Given the description of an element on the screen output the (x, y) to click on. 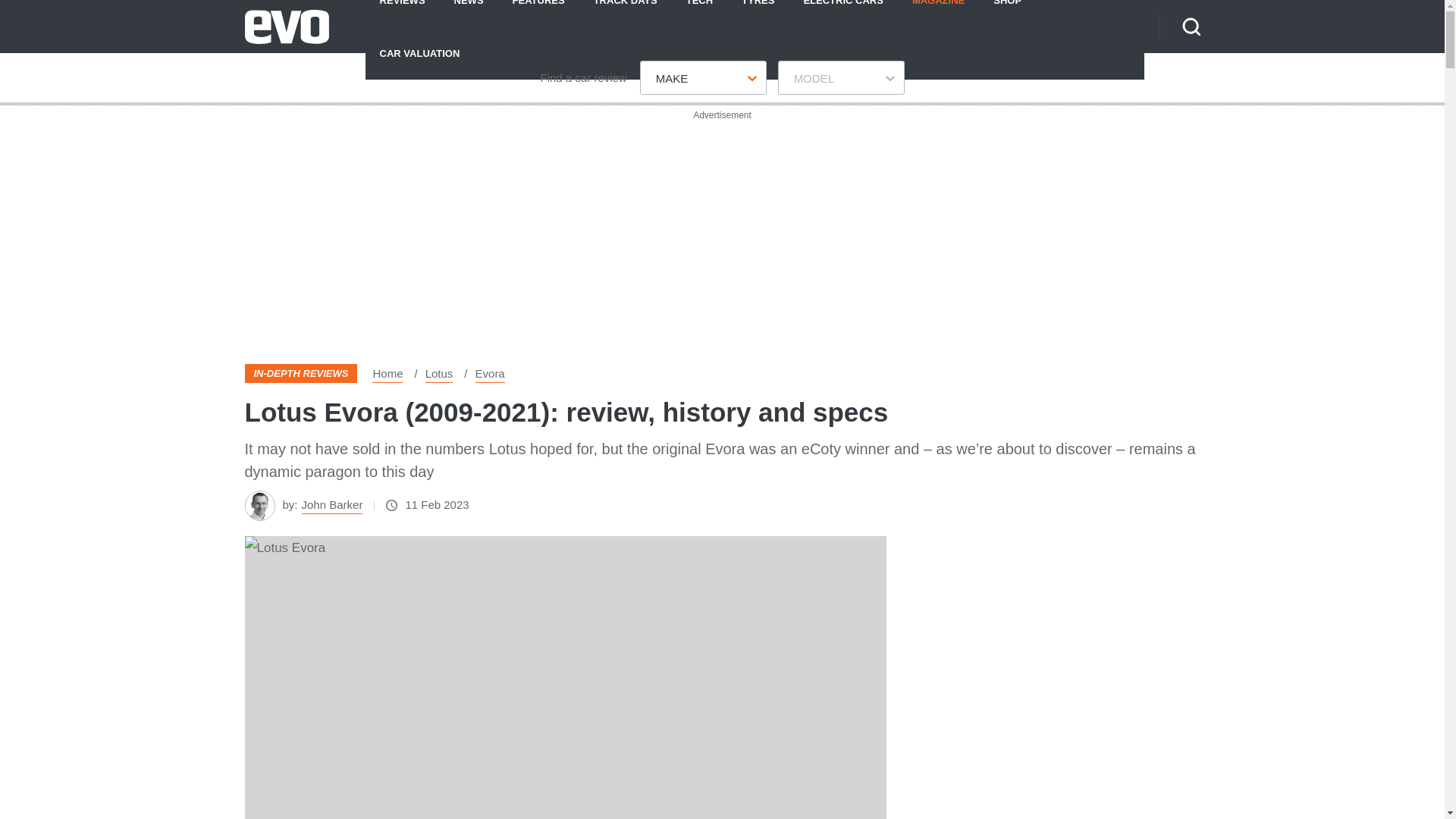
Evora (490, 373)
Search (1189, 26)
Lotus (438, 373)
ELECTRIC CARS (842, 13)
NEWS (468, 13)
TRACK DAYS (625, 13)
TYRES (757, 13)
FEATURES (538, 13)
SHOP (1006, 13)
John Barker (331, 505)
REVIEWS (402, 13)
TECH (698, 13)
MAGAZINE (938, 13)
Home (387, 373)
